Given the description of an element on the screen output the (x, y) to click on. 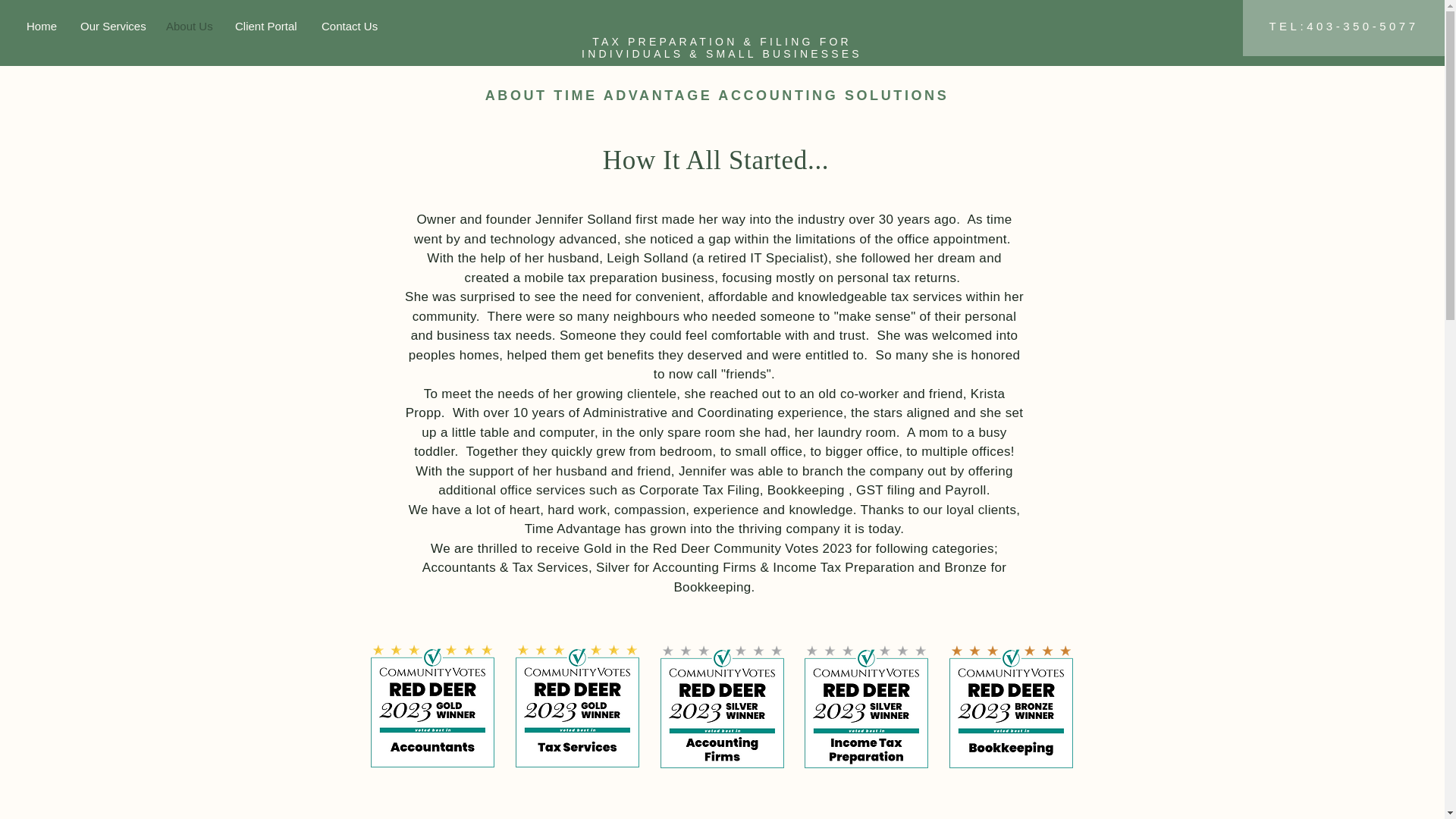
Client Portal (267, 26)
Contact Us (349, 26)
Home (41, 26)
Our Services (111, 26)
About Us (189, 26)
